Given the description of an element on the screen output the (x, y) to click on. 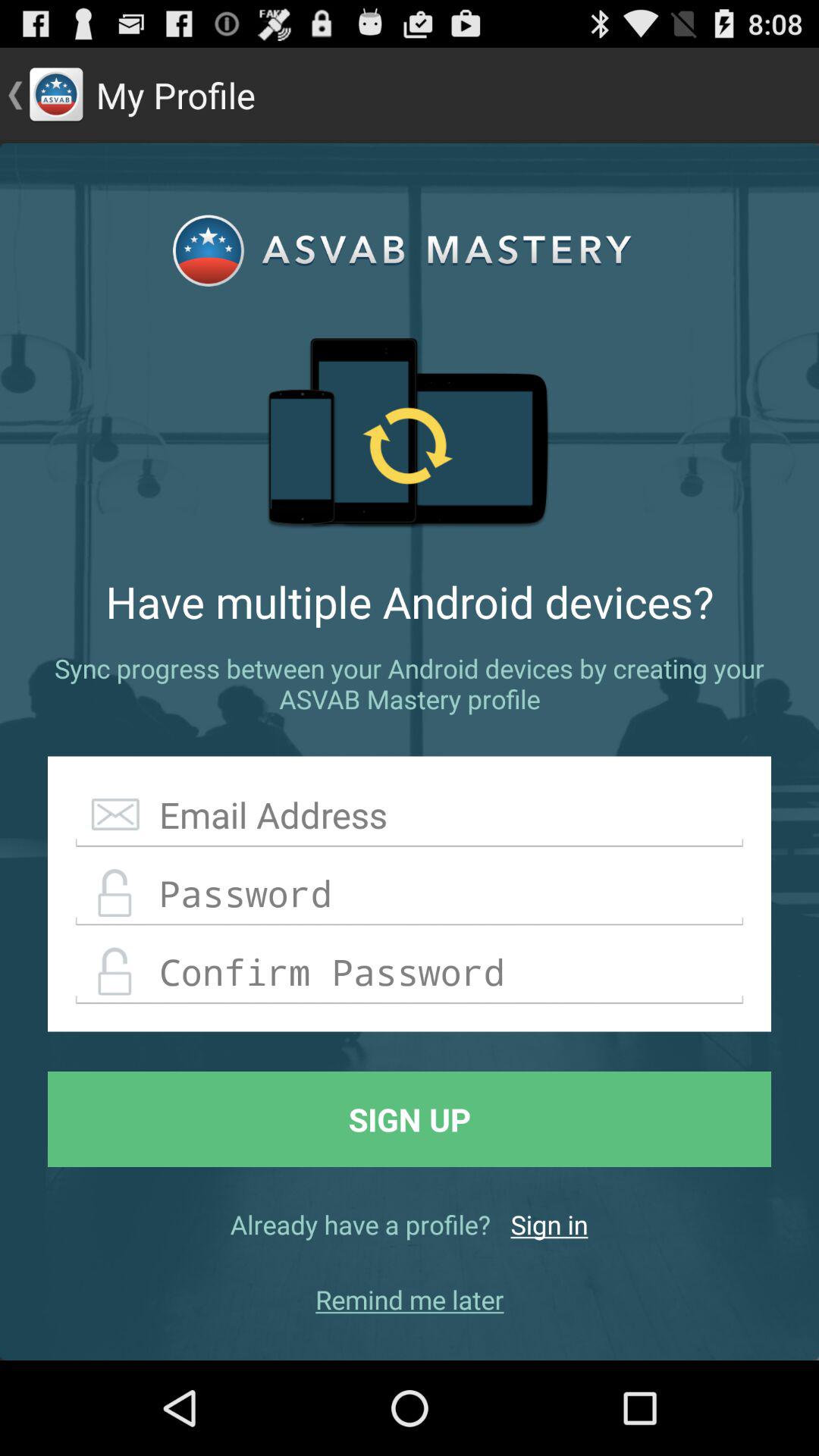
tap the sign up (409, 1119)
